Given the description of an element on the screen output the (x, y) to click on. 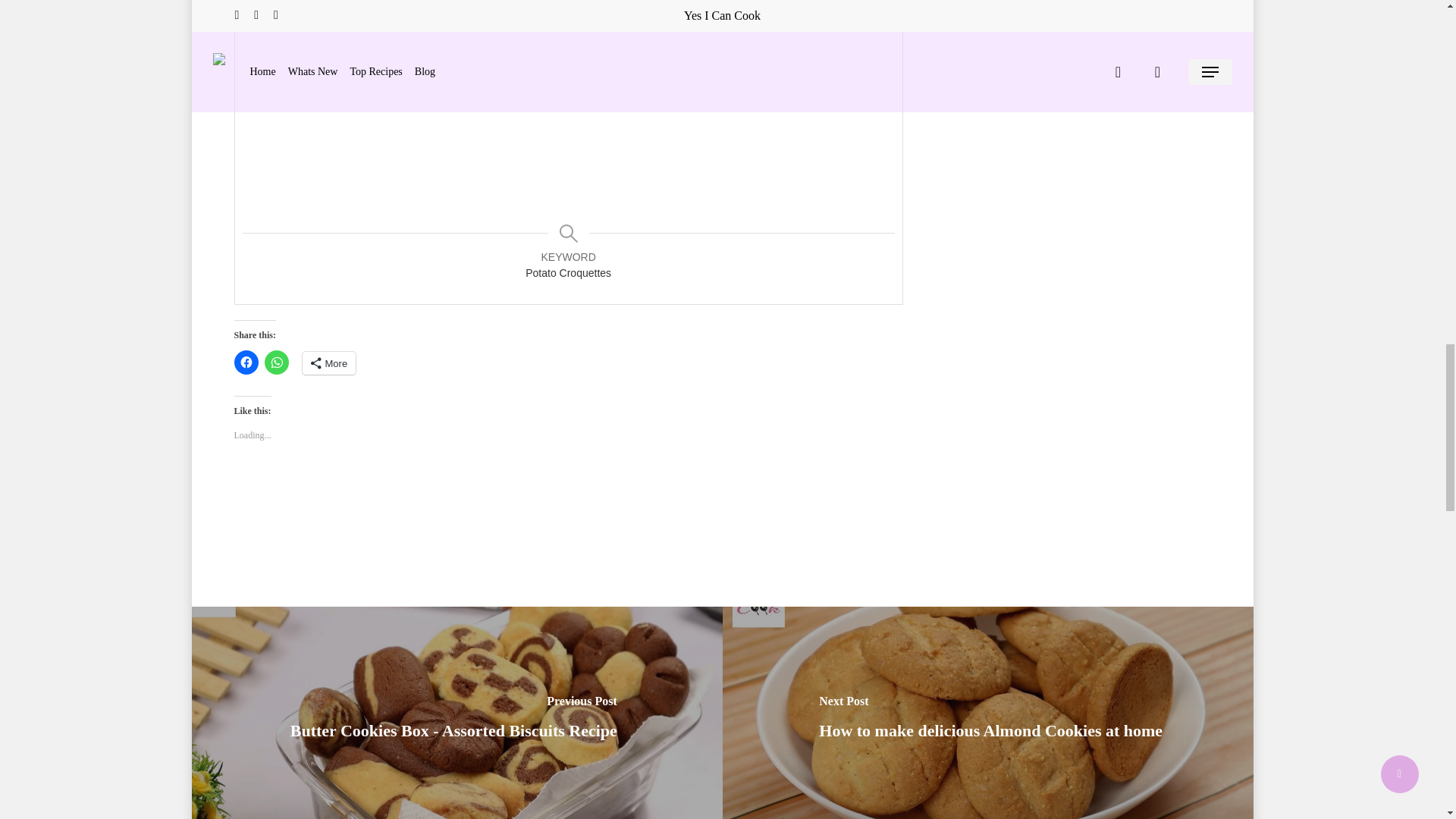
More (328, 363)
Click to share on Facebook (244, 362)
Click to share on WhatsApp (275, 362)
